Given the description of an element on the screen output the (x, y) to click on. 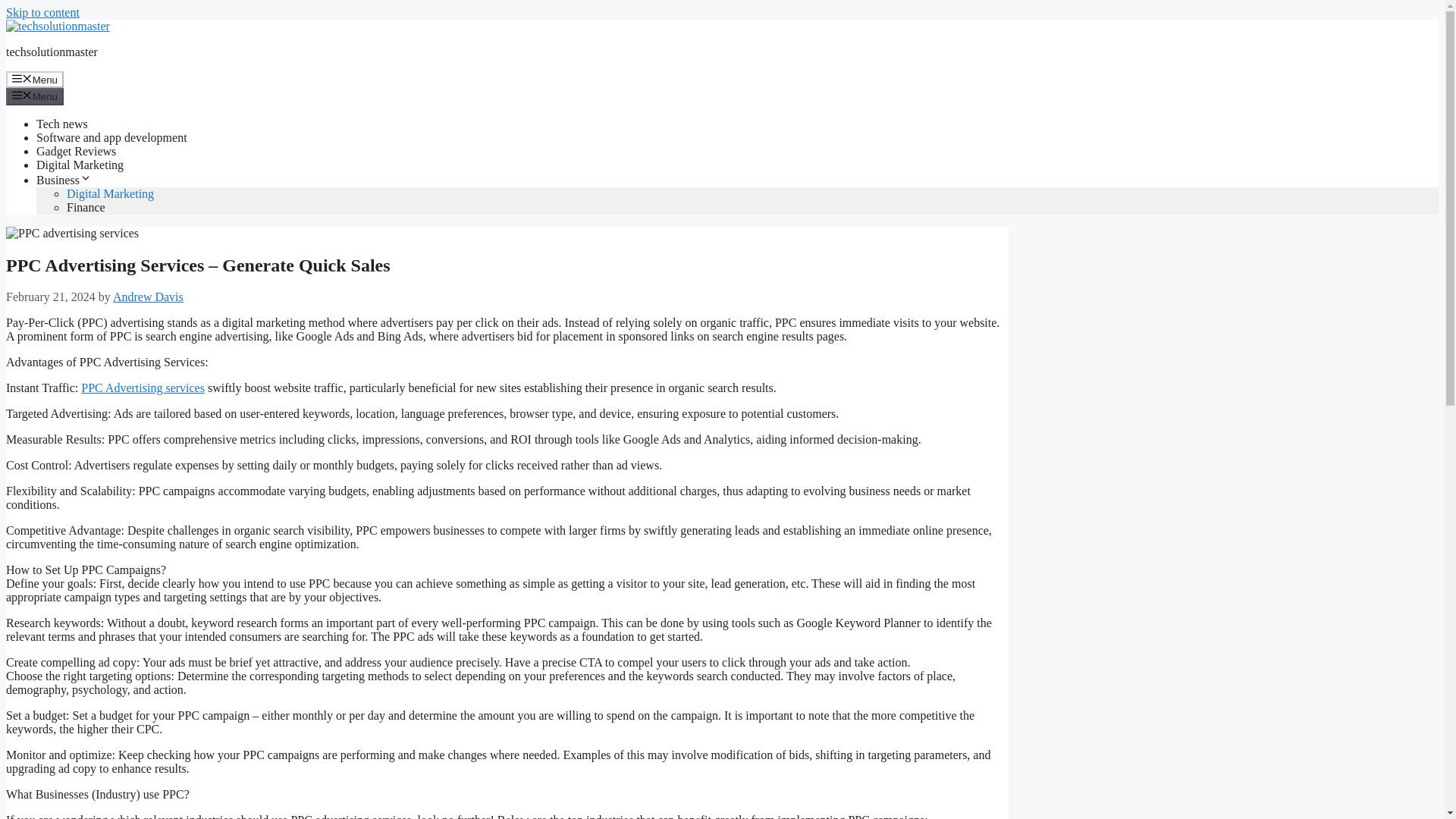
PPC Advertising services (143, 387)
Menu (34, 79)
Skip to content (42, 11)
Finance (85, 206)
Digital Marketing (79, 164)
Software and app development (111, 137)
Menu (34, 95)
Business (63, 179)
Gadget Reviews (76, 151)
techsolutionmaster (51, 51)
